Given the description of an element on the screen output the (x, y) to click on. 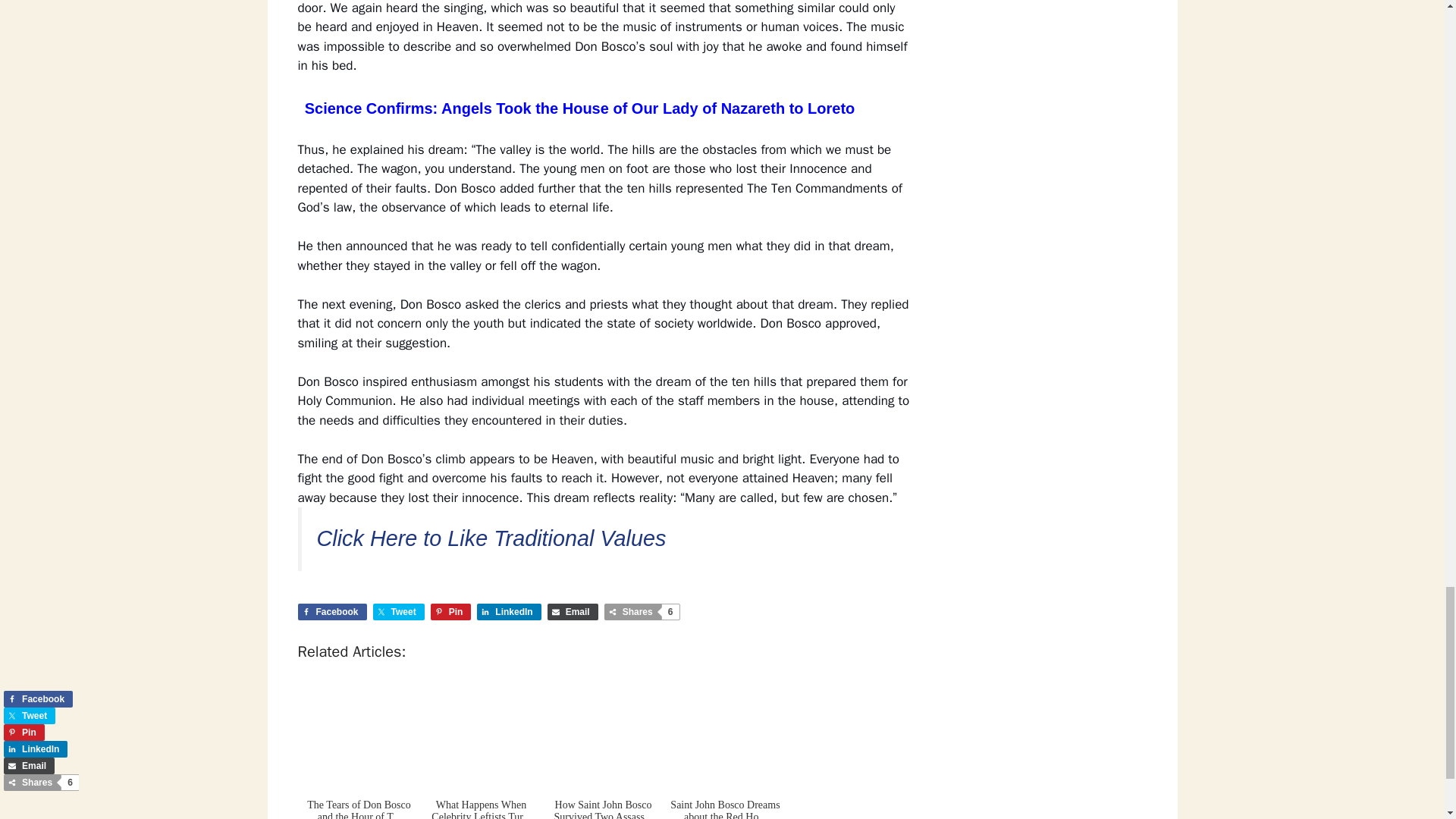
Share on Pinterest (450, 611)
Share on LinkedIn (508, 611)
Share on Facebook (331, 611)
Share via Email (572, 611)
Email (572, 611)
Share on Twitter (398, 611)
